Given the description of an element on the screen output the (x, y) to click on. 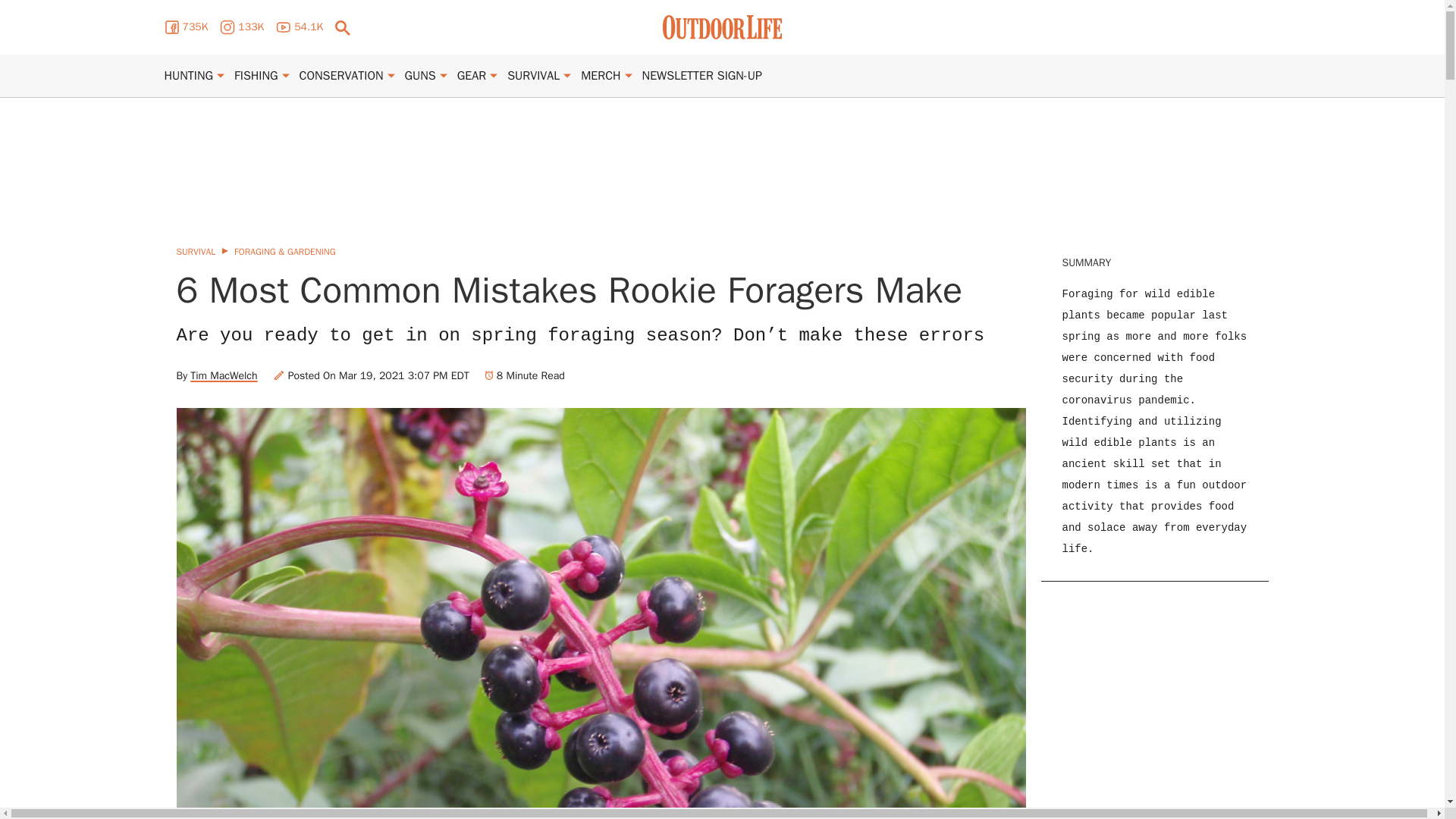
Survival (532, 75)
Conservation (341, 75)
Gear (471, 75)
Fishing (256, 75)
Merch (600, 75)
Newsletter Sign-up (701, 75)
Guns (419, 75)
Hunting (187, 75)
